Given the description of an element on the screen output the (x, y) to click on. 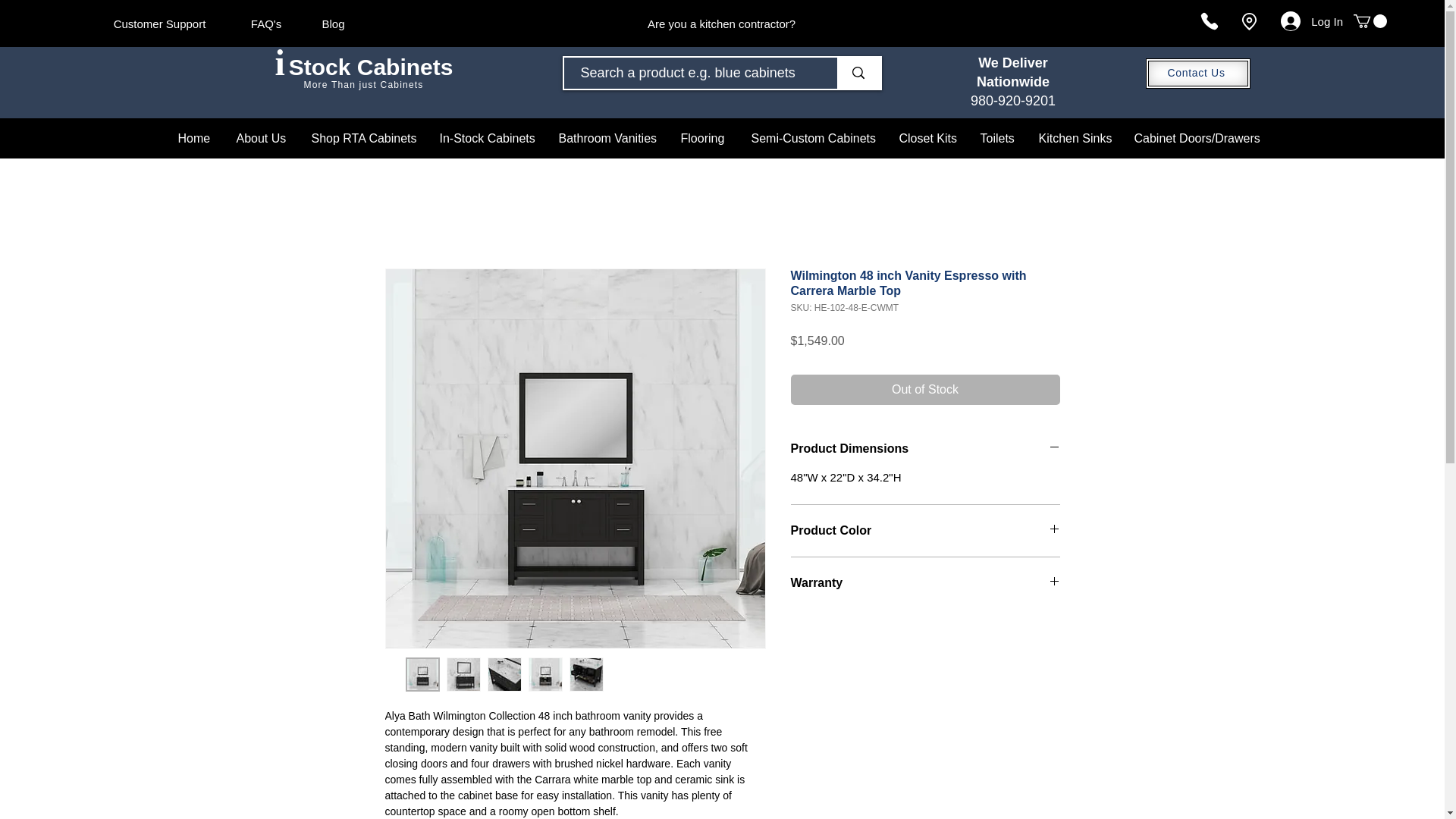
Contact Us (1196, 73)
iStock Cabinets (363, 66)
Log In (1311, 21)
About Us (261, 138)
Kitchen Sinks (1074, 138)
Closet Kits (927, 138)
Semi-Custom Cabinets (813, 138)
Toilets (998, 138)
Home (196, 138)
Bathroom Vanities (608, 138)
Shop RTA Cabinets (363, 138)
In-Stock Cabinets (487, 138)
FAQ's (265, 23)
Blog (332, 23)
Flooring (703, 138)
